Given the description of an element on the screen output the (x, y) to click on. 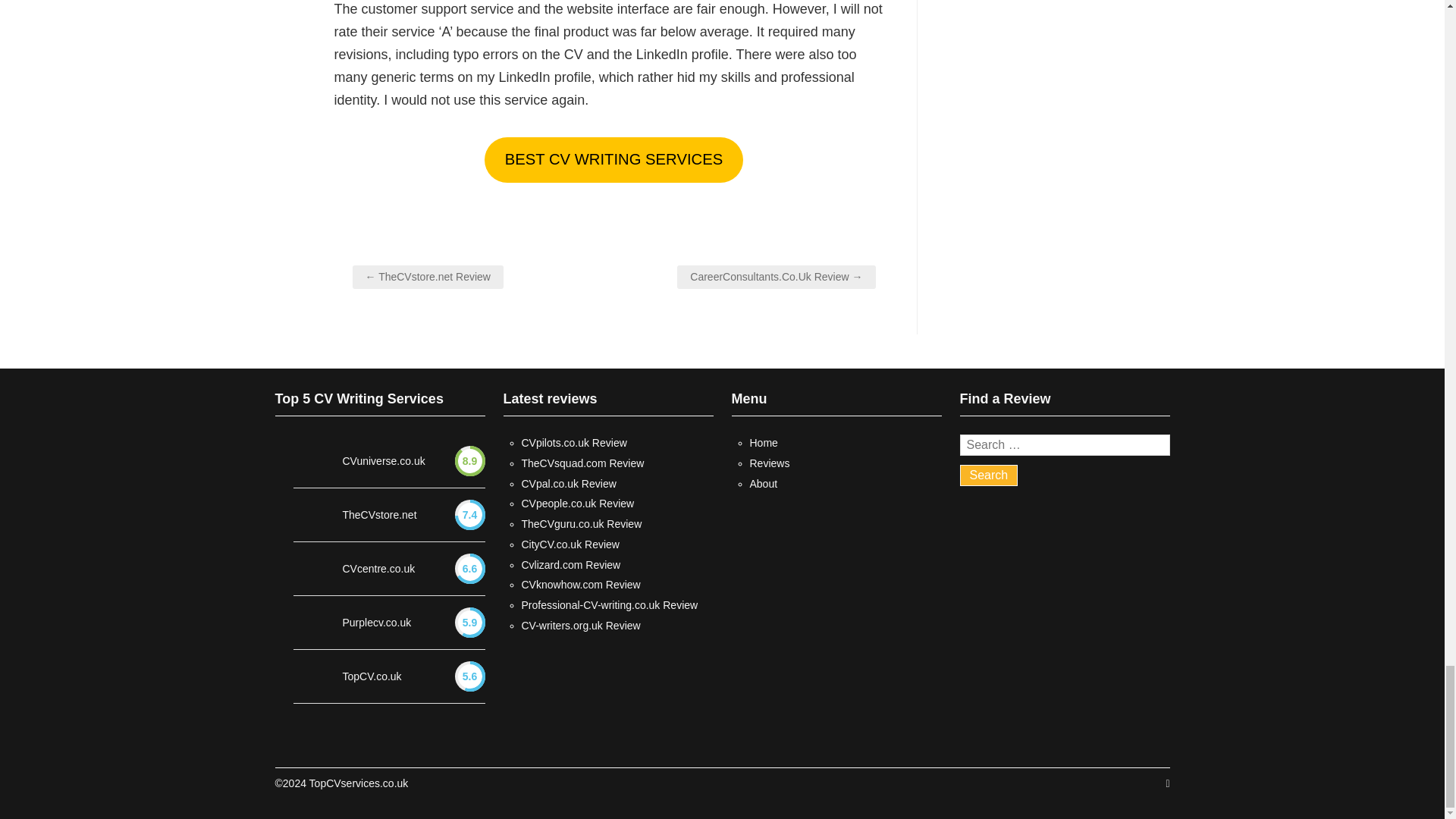
TopCV.co.uk (371, 676)
TopCV.co.uk (371, 676)
CVknowhow.com Review (580, 584)
Search (988, 475)
CV-writers.org.uk Review (580, 625)
Professional-CV-writing.co.uk Review (609, 604)
Purplecv.co.uk (377, 622)
CVpeople.co.uk Review (577, 503)
TheCVstore.net (379, 515)
Search (988, 475)
CVcentre.co.uk (378, 569)
Purplecv.co.uk (377, 622)
CVpilots.co.uk Review (574, 442)
CVcentre.co.uk (378, 569)
Cvlizard.com Review (571, 564)
